Given the description of an element on the screen output the (x, y) to click on. 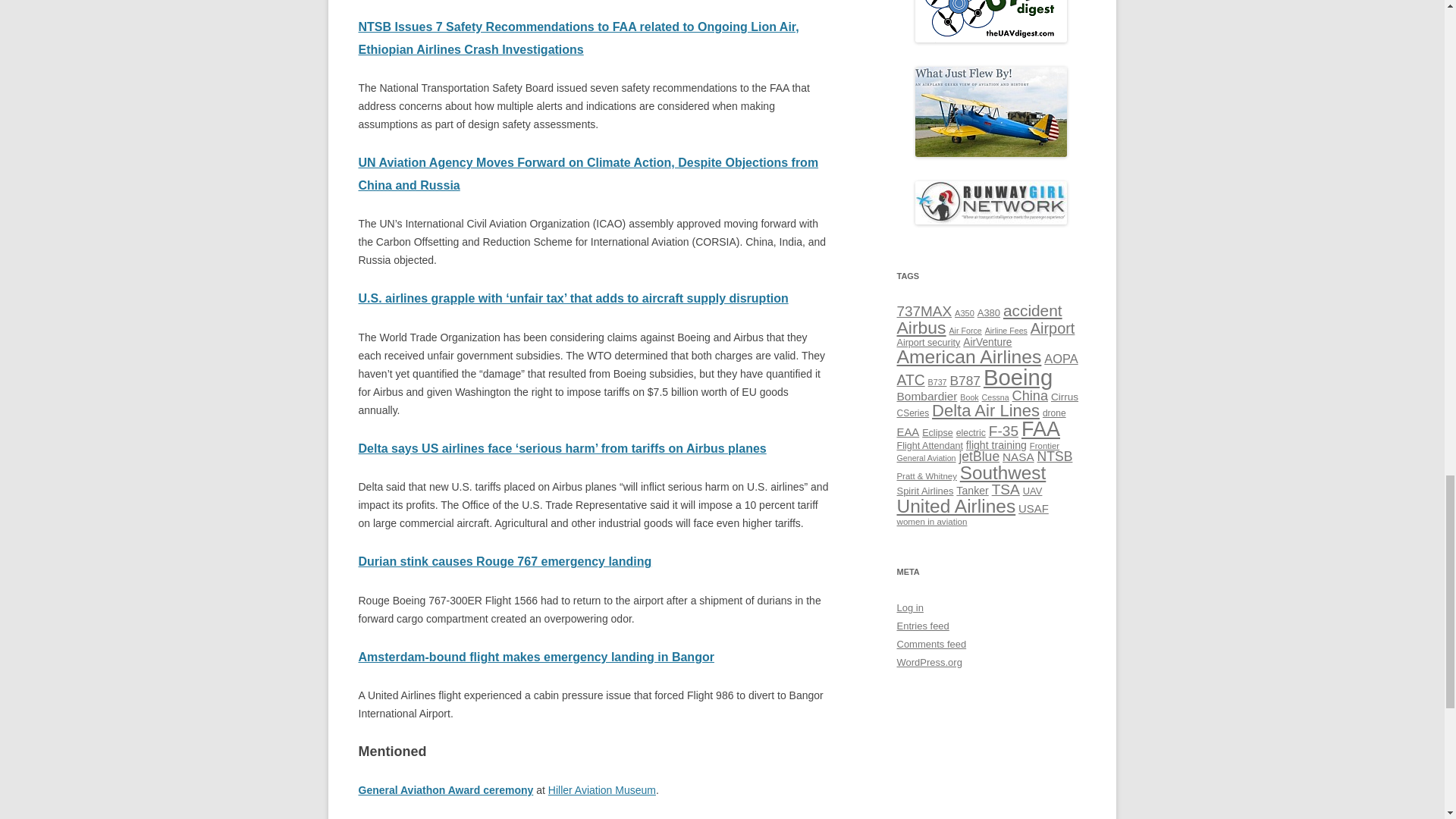
General Aviathon Award ceremony (445, 789)
Amsterdam-bound flight makes emergency landing in Bangor (535, 656)
Hiller Aviation Museum (602, 789)
Durian stink causes Rouge 767 emergency landing (504, 561)
